Given the description of an element on the screen output the (x, y) to click on. 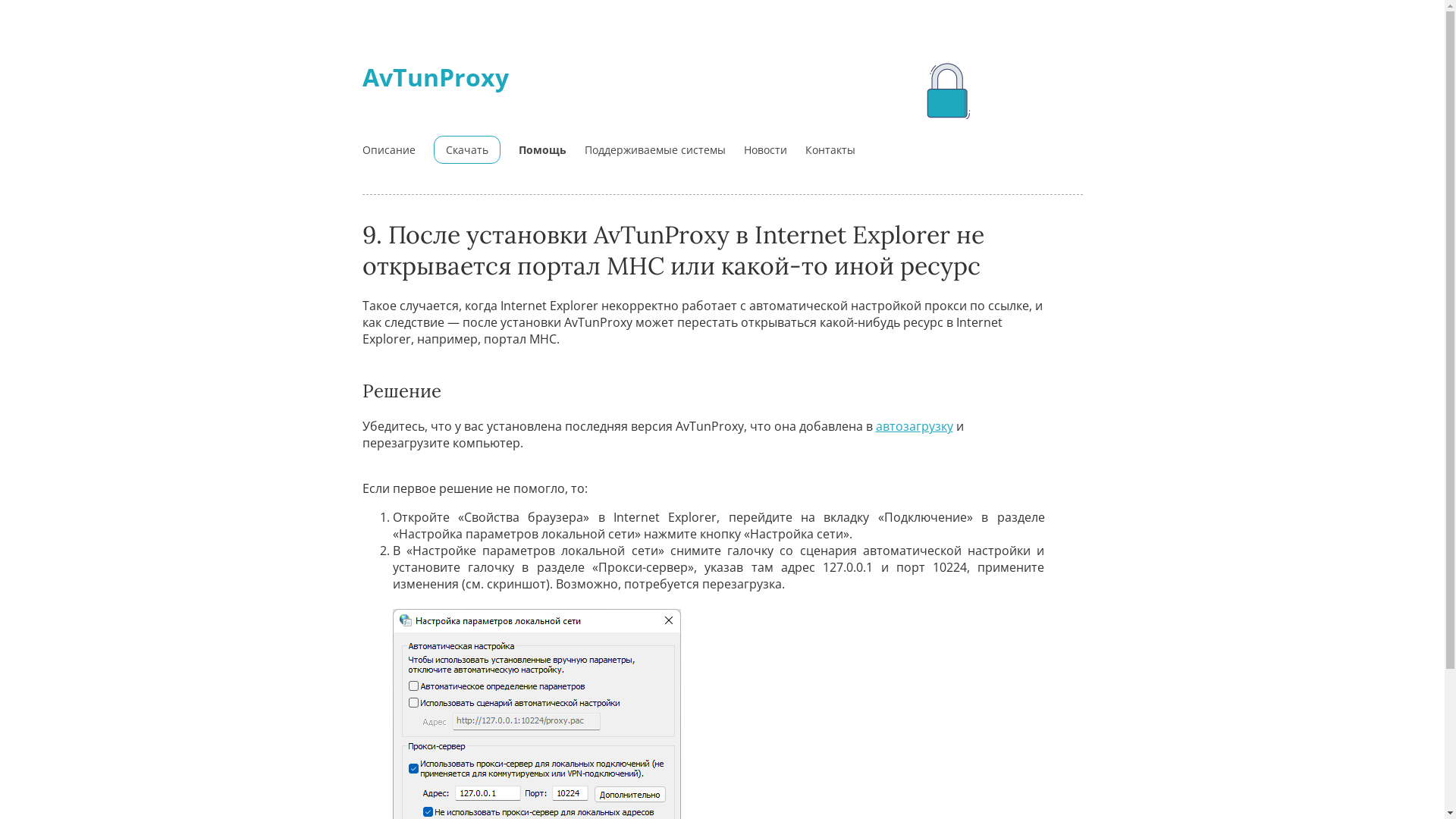
AvTunProxy Element type: text (435, 76)
